Given the description of an element on the screen output the (x, y) to click on. 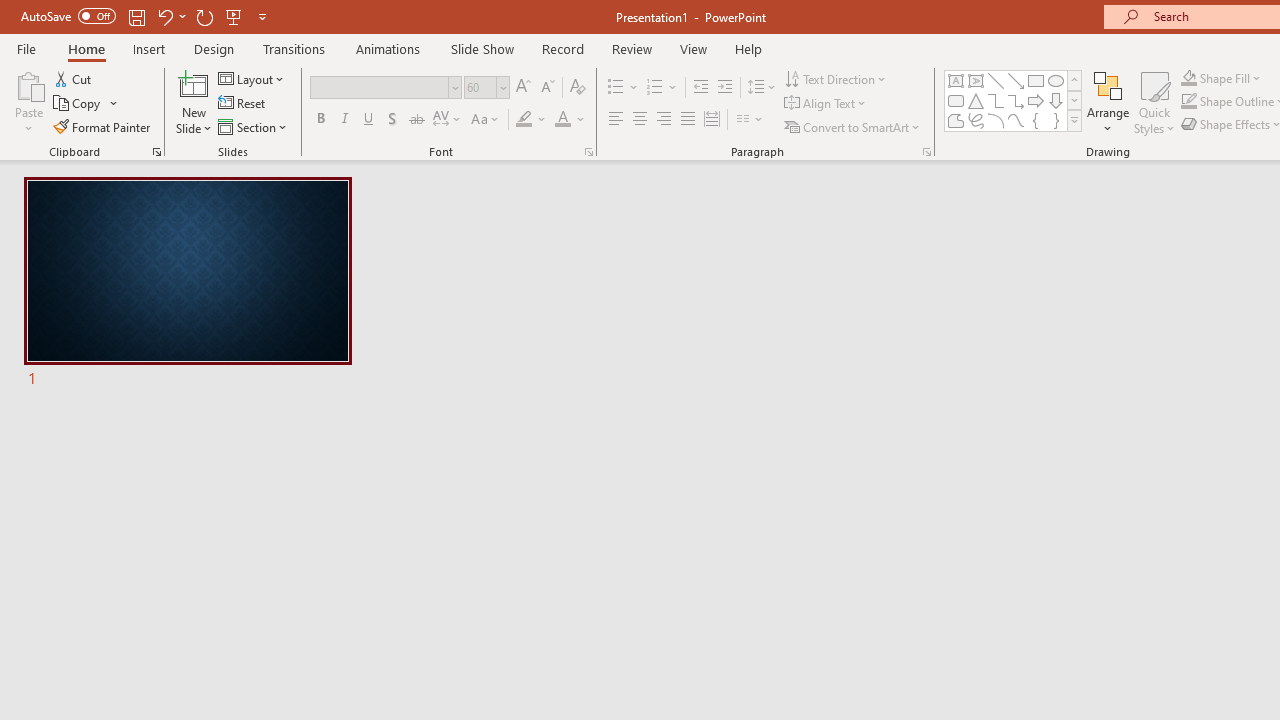
Paragraph... (926, 151)
Copy (78, 103)
Change Case (486, 119)
Increase Indent (725, 87)
Row up (1074, 79)
Connector: Elbow (995, 100)
Clear Formatting (577, 87)
Numbering (661, 87)
Justify (687, 119)
Align Left (616, 119)
